Given the description of an element on the screen output the (x, y) to click on. 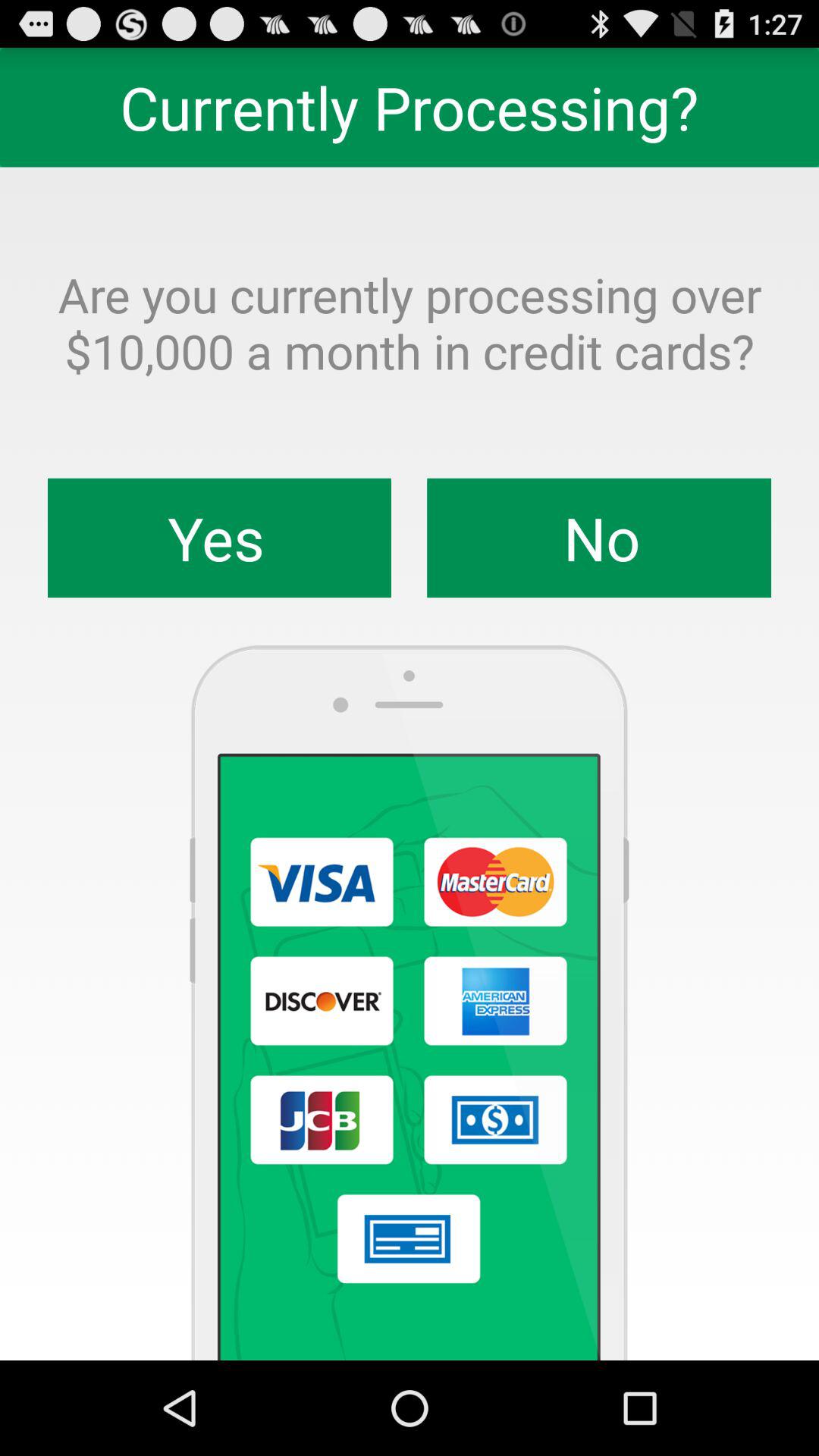
launch the item next to the yes icon (599, 537)
